Given the description of an element on the screen output the (x, y) to click on. 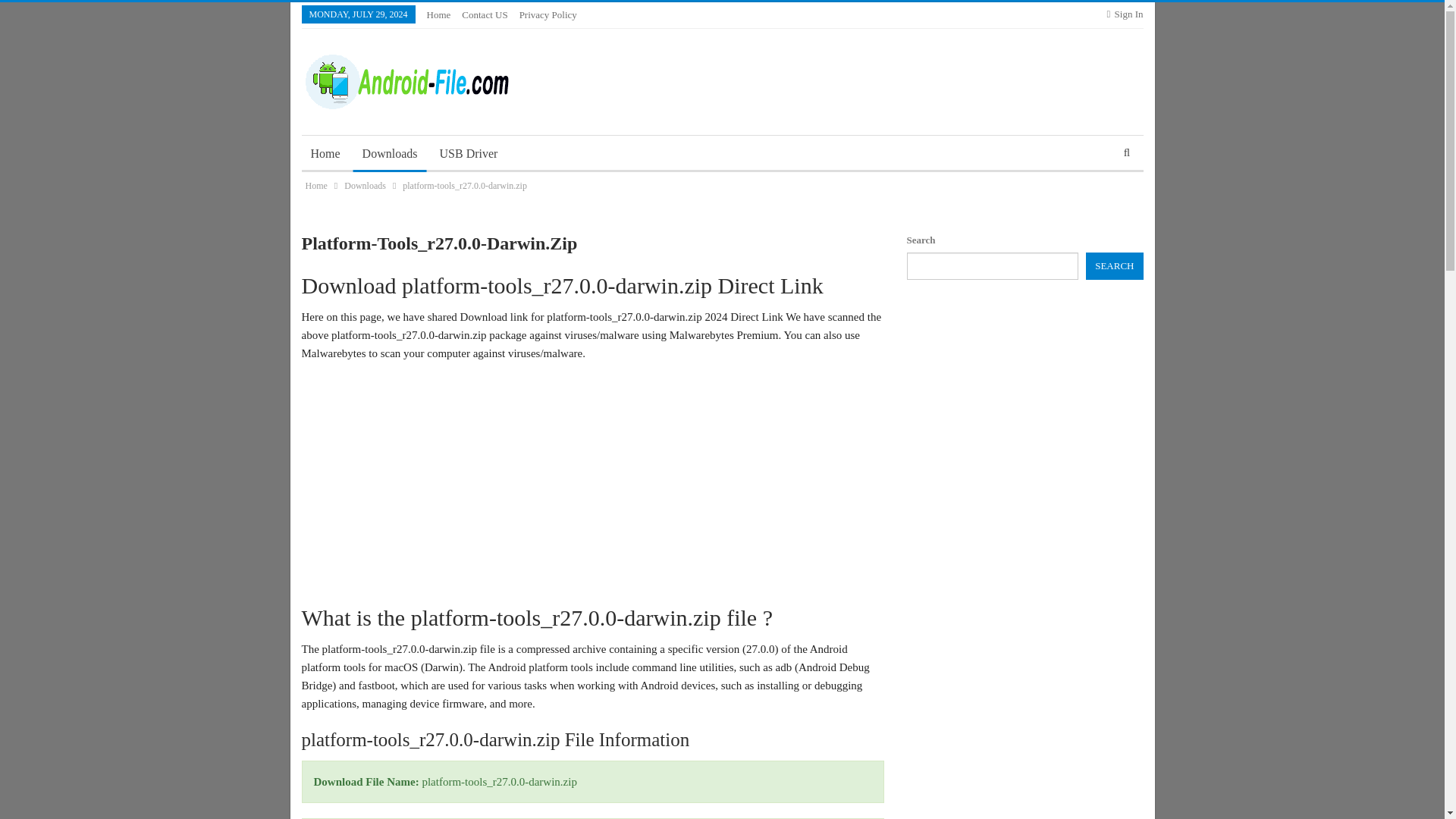
SEARCH (1114, 266)
Home (325, 153)
Sign In (1124, 13)
Home (315, 185)
Privacy Policy (547, 14)
USB Driver (468, 153)
Contact US (483, 14)
Downloads (389, 153)
Advertisement (592, 481)
Home (438, 14)
Downloads (364, 185)
